Given the description of an element on the screen output the (x, y) to click on. 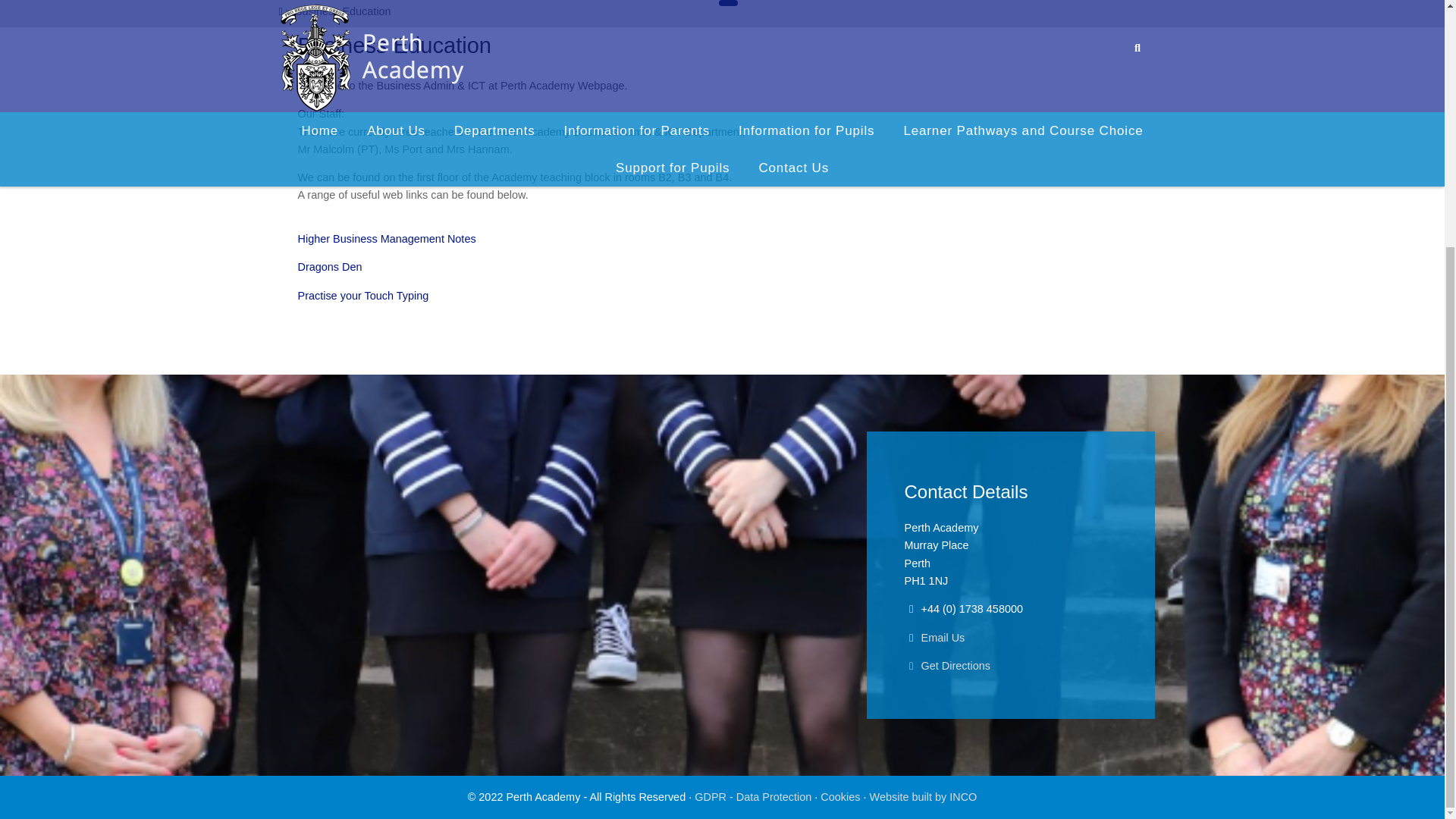
Find Us (947, 665)
